Given the description of an element on the screen output the (x, y) to click on. 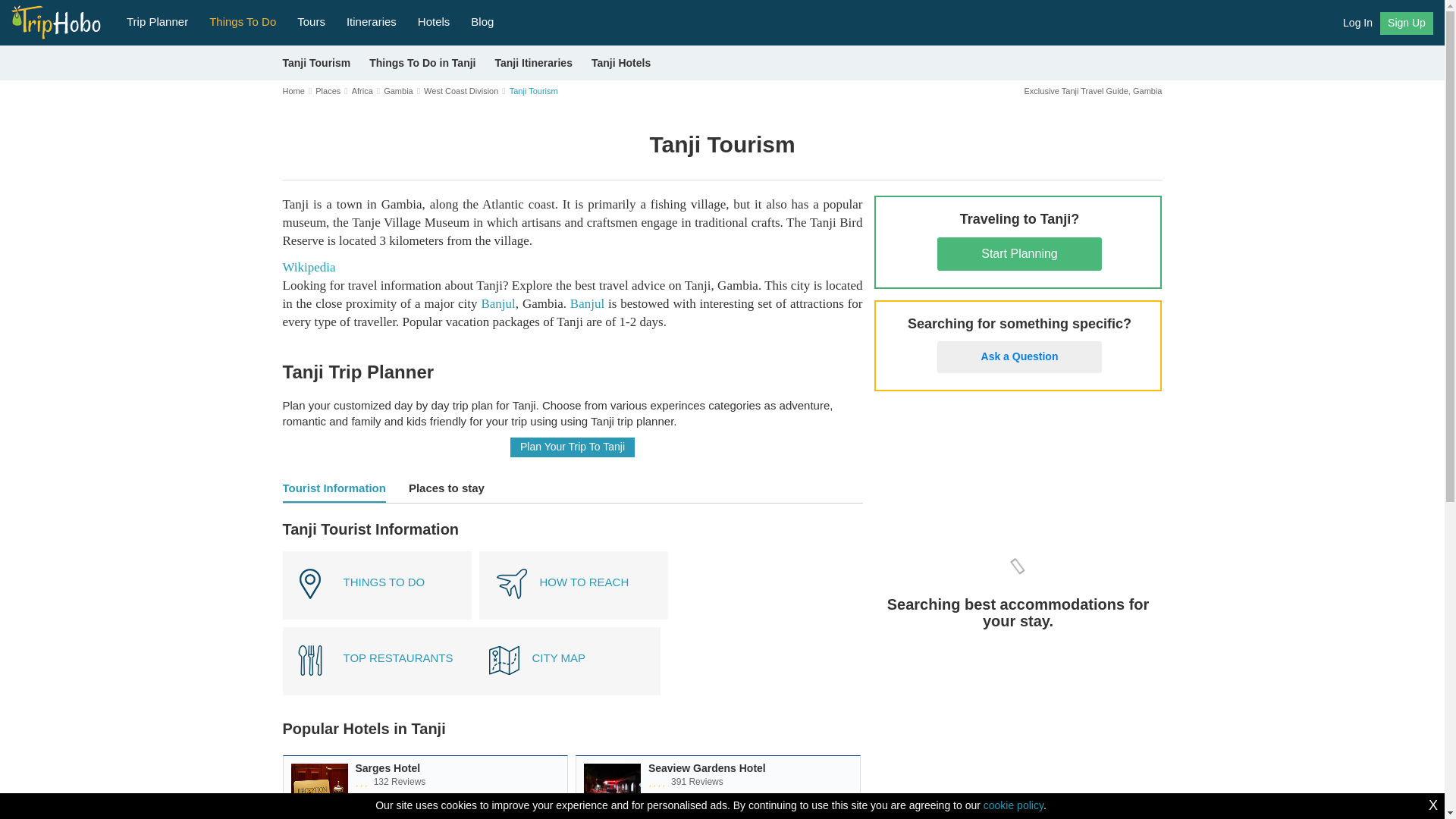
Itineraries (371, 20)
Hotels (434, 20)
Things To Do (242, 20)
Gambia (398, 90)
Check Availability (508, 812)
Places (327, 90)
Things To Do in Tanji (376, 585)
Tours (311, 20)
Parking (400, 794)
Things To Do in Tanji (422, 62)
